Given the description of an element on the screen output the (x, y) to click on. 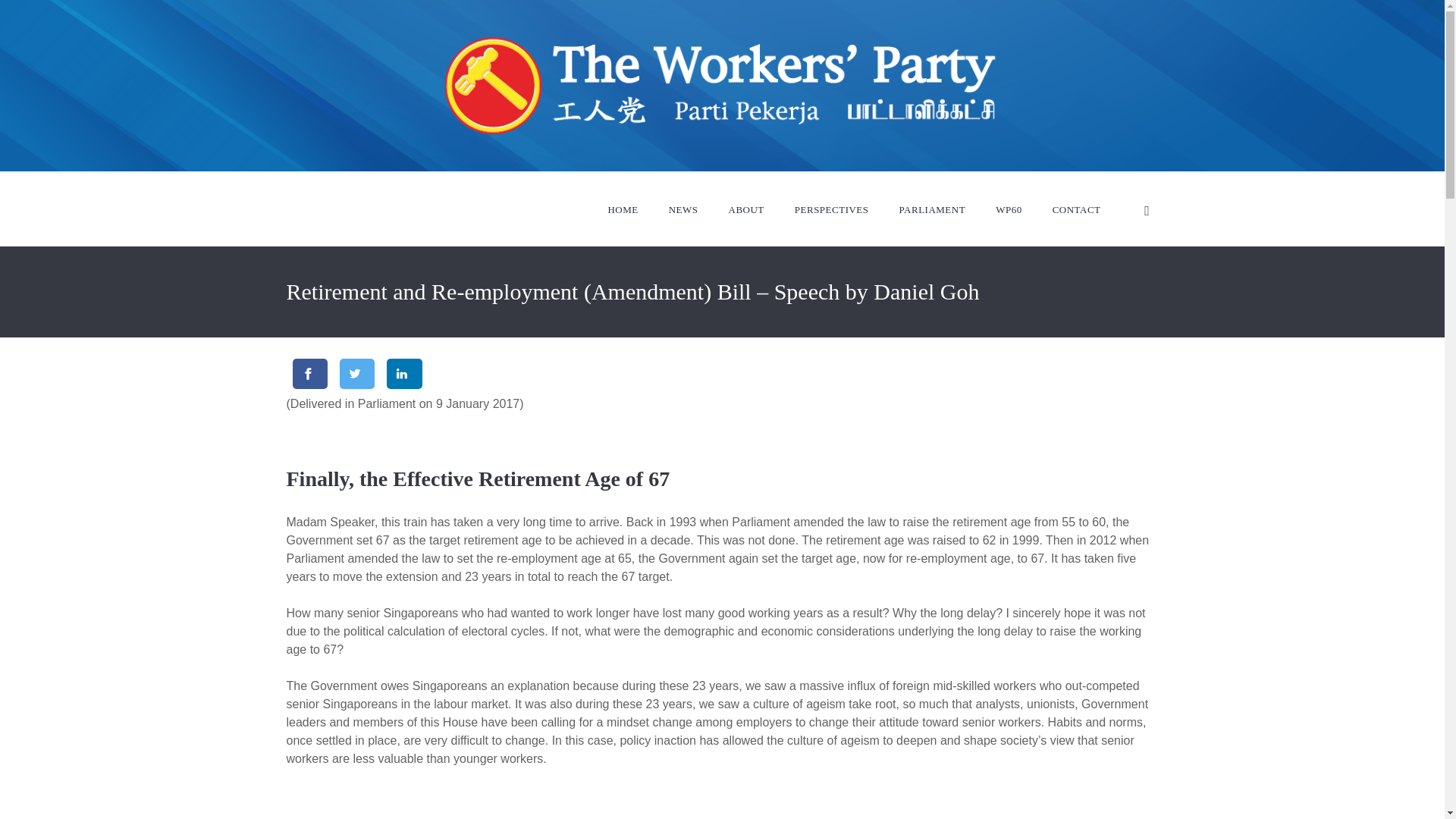
PARLIAMENT (932, 209)
PERSPECTIVES (831, 209)
